Given the description of an element on the screen output the (x, y) to click on. 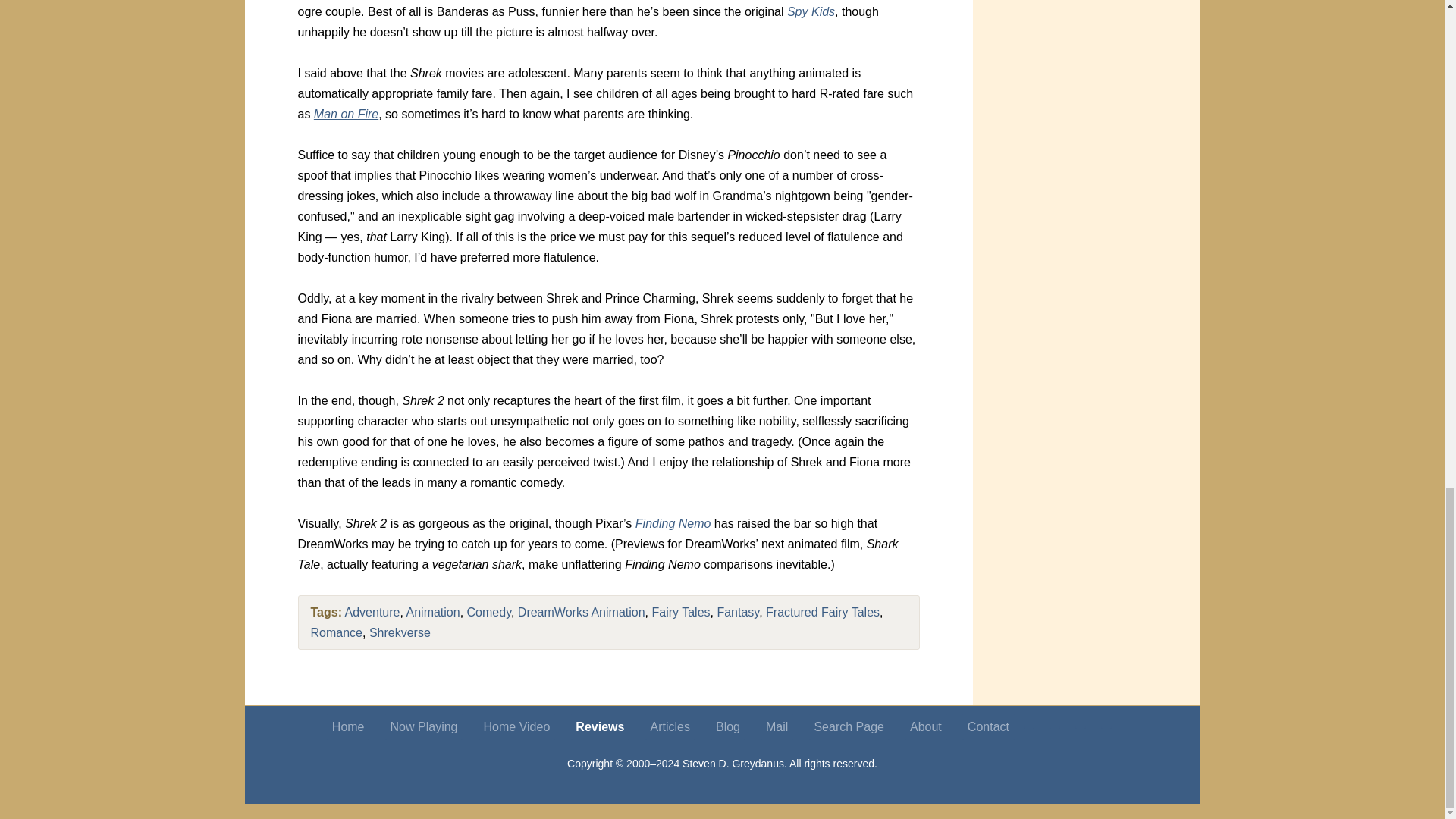
Adventure (372, 612)
Finding Nemo (672, 522)
Spy Kids (810, 11)
Comedy (489, 612)
Animation (433, 612)
DreamWorks Animation (581, 612)
Man on Fire (346, 113)
Follow Decent Films on Facebook (1054, 726)
Romance (336, 632)
Fairy Tales (680, 612)
Fantasy (737, 612)
Shrekverse (399, 632)
Subscribe to Decent Films via RSS (1080, 726)
Fractured Fairy Tales (822, 612)
I love Decent Films! How can I help? (1106, 726)
